Given the description of an element on the screen output the (x, y) to click on. 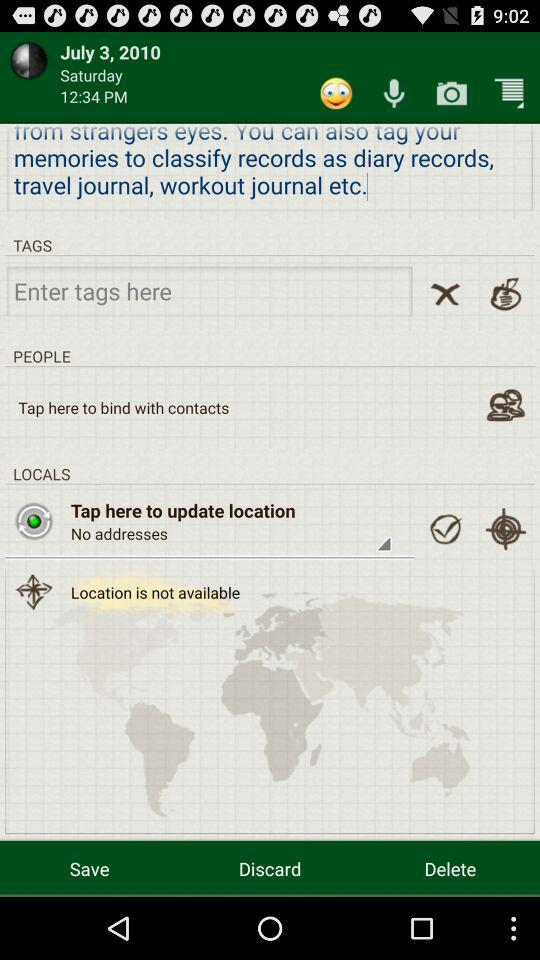
update location (445, 529)
